Given the description of an element on the screen output the (x, y) to click on. 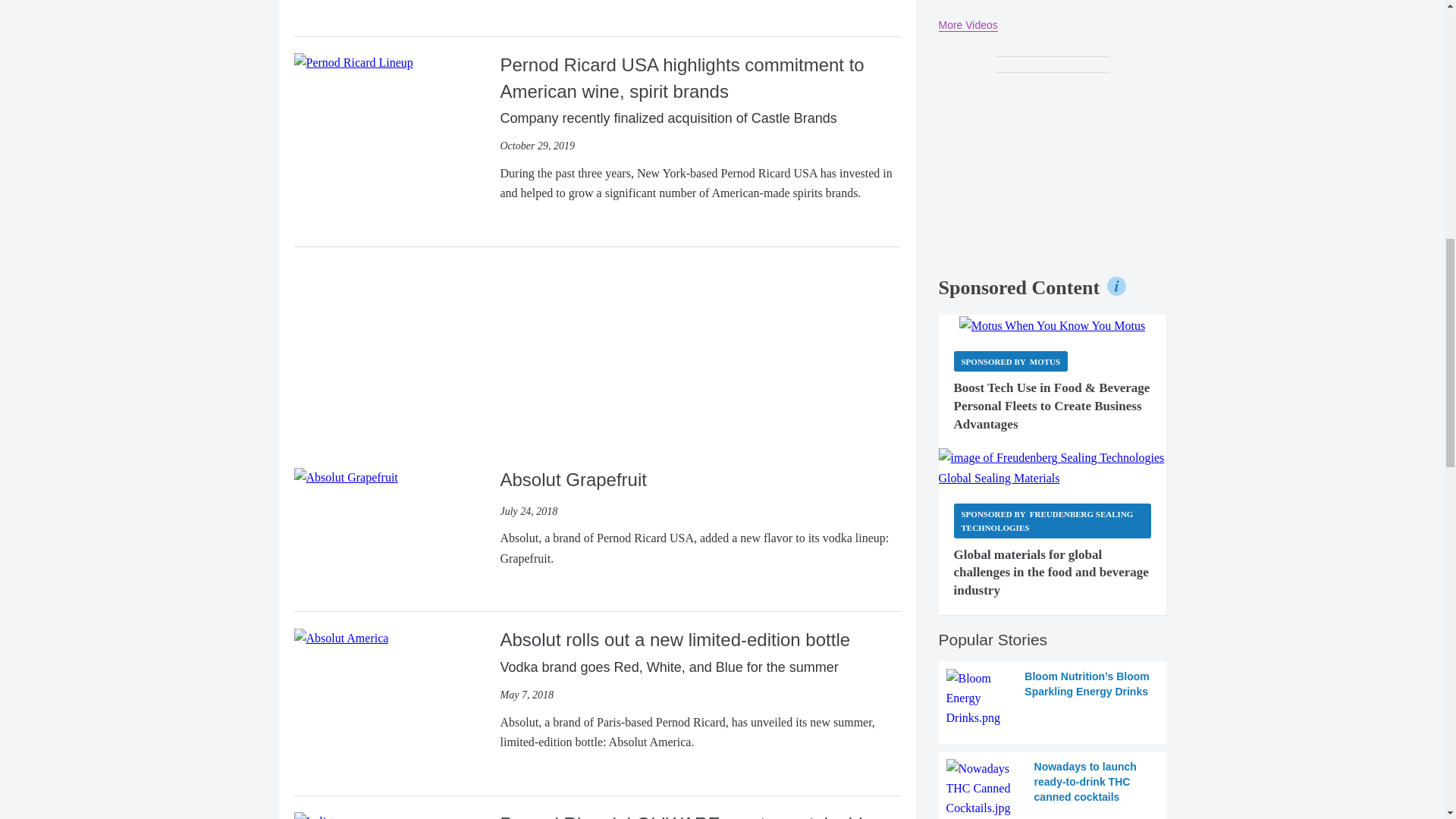
Absolut Grapefruit (345, 476)
Absolut rolls out a new limited-edition bottle (341, 635)
